Given the description of an element on the screen output the (x, y) to click on. 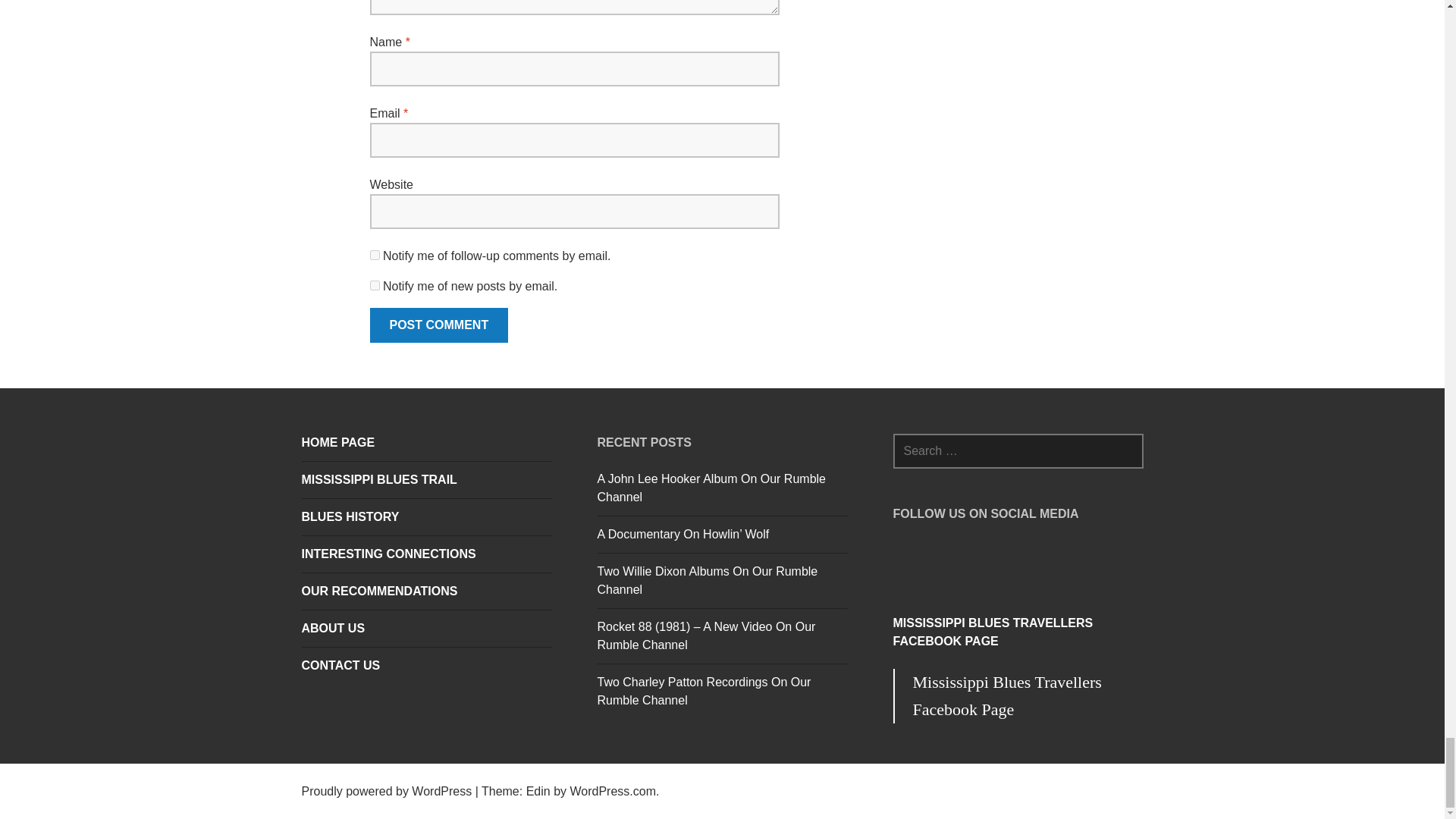
Post Comment (438, 325)
subscribe (374, 255)
subscribe (374, 285)
